Given the description of an element on the screen output the (x, y) to click on. 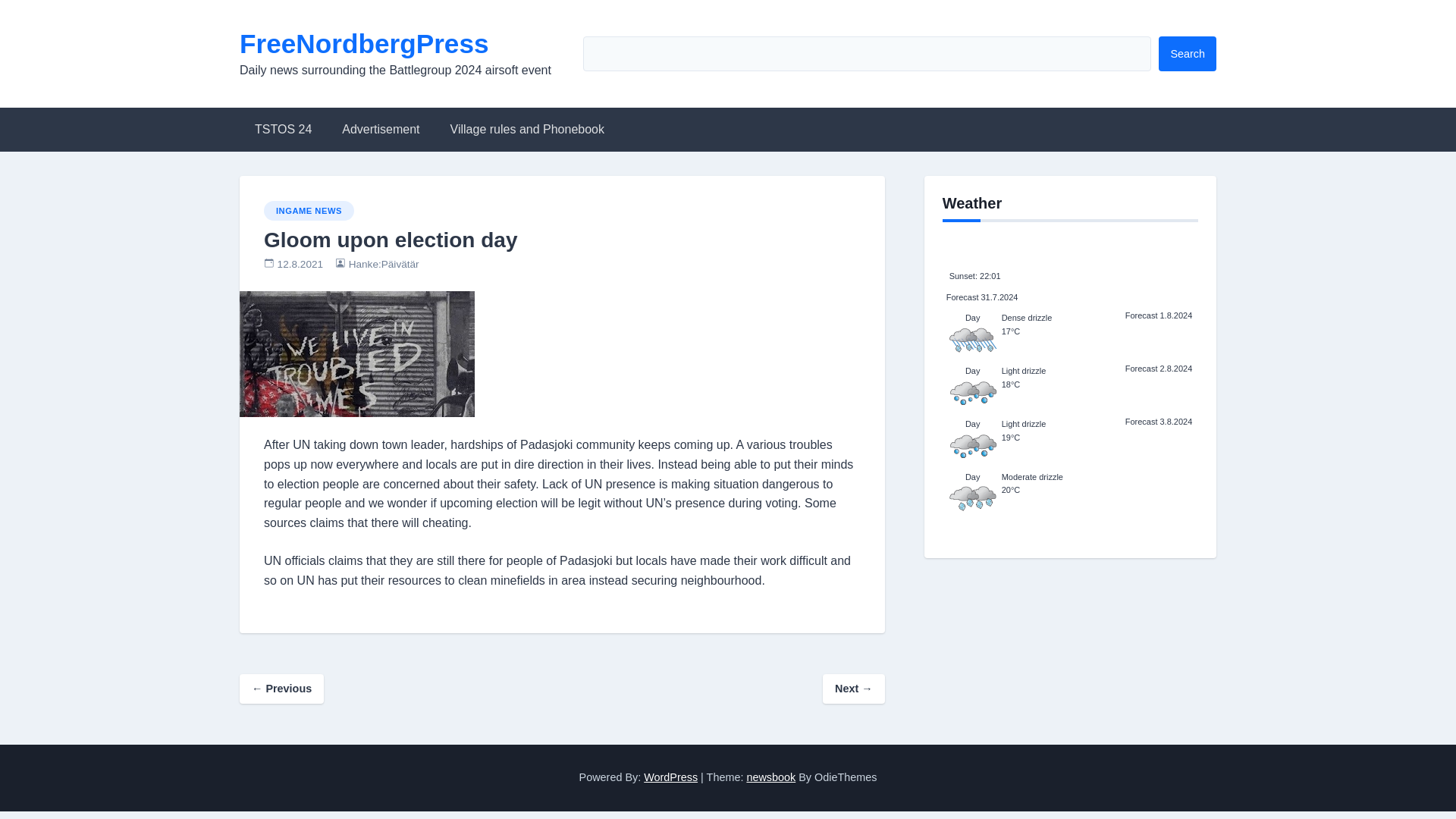
FreeNordbergPress (364, 43)
WordPress (670, 776)
TSTOS 24 (283, 129)
Advertisement (379, 129)
12.8.2021 (300, 264)
Village rules and Phonebook (527, 129)
INGAME NEWS (308, 210)
newsbook (769, 776)
Search (1186, 53)
